Given the description of an element on the screen output the (x, y) to click on. 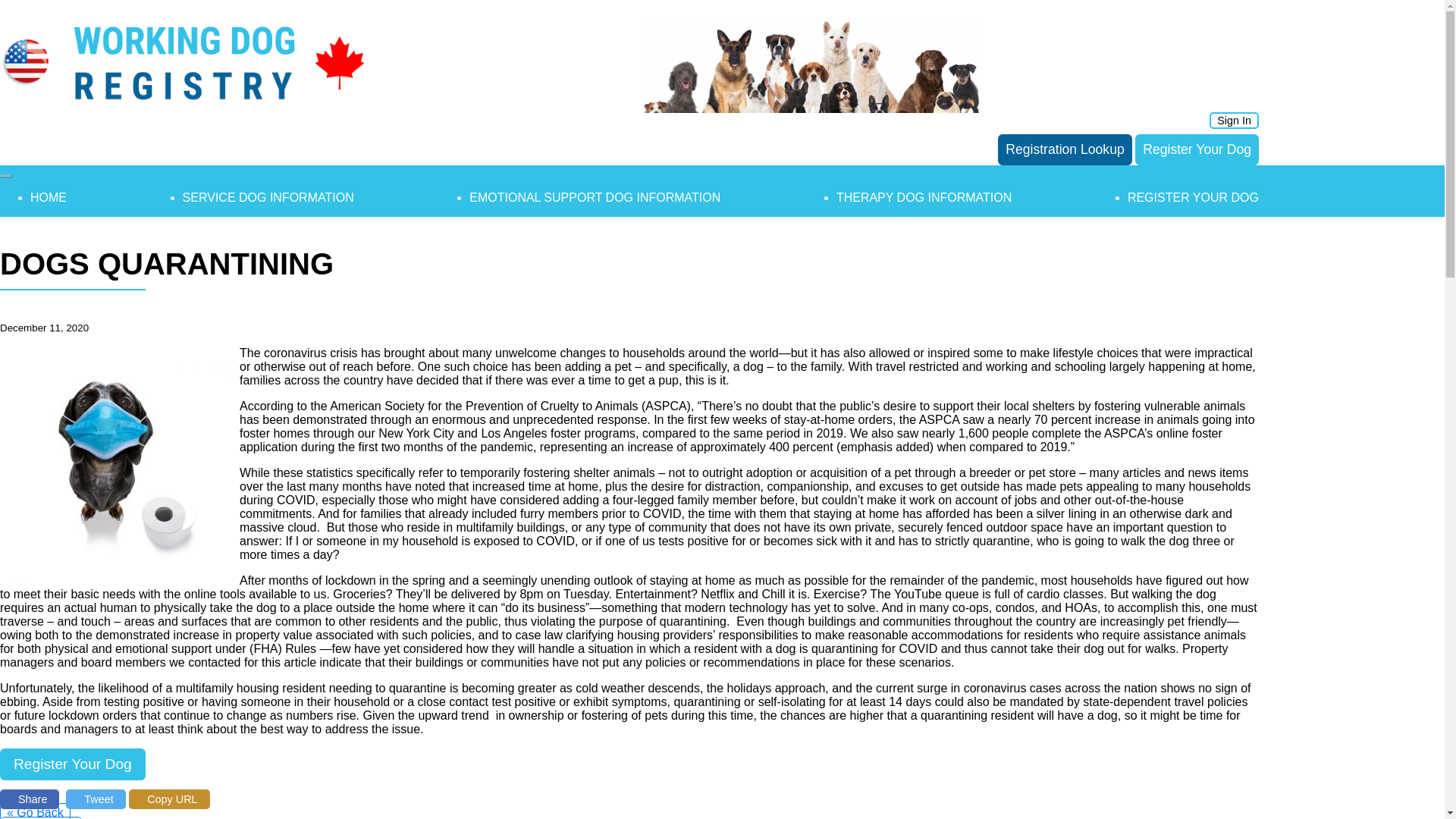
Copy URL (169, 799)
Sign In (1234, 120)
THERAPY DOG INFORMATION (923, 196)
Tweet (95, 799)
HOME (48, 196)
EMOTIONAL SUPPORT DOG INFORMATION (594, 196)
REGISTER YOUR DOG (1192, 196)
Register Your Dog (1197, 149)
Register Your Dog (72, 764)
Click to Copy (169, 799)
SERVICE DOG INFORMATION (268, 196)
Registration Lookup (1064, 149)
Share (29, 799)
